Given the description of an element on the screen output the (x, y) to click on. 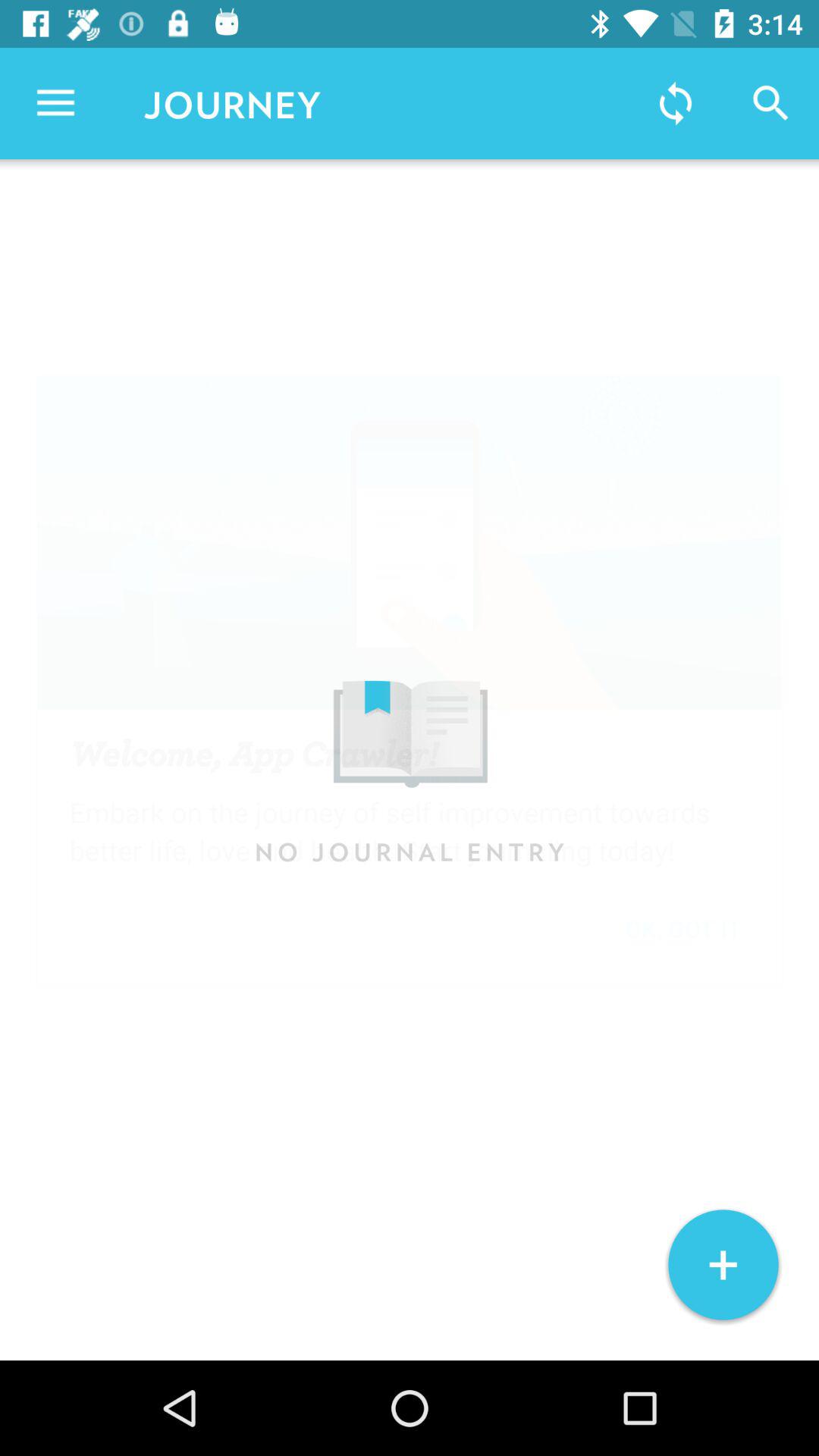
swipe until the + icon (723, 1264)
